Given the description of an element on the screen output the (x, y) to click on. 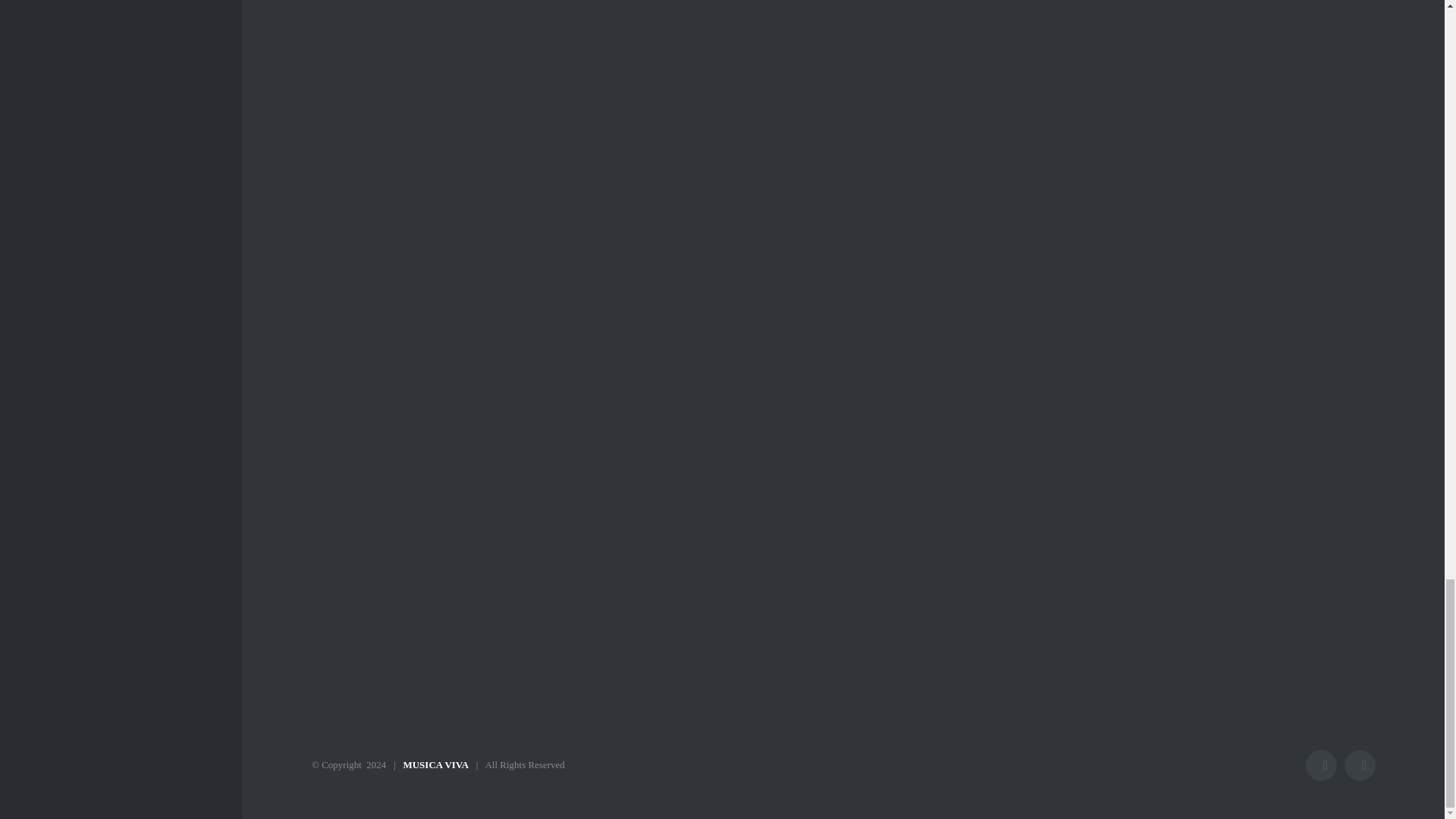
Facebook (1321, 765)
Vimeo (1359, 765)
Vimeo (1359, 765)
Facebook (1321, 765)
